Given the description of an element on the screen output the (x, y) to click on. 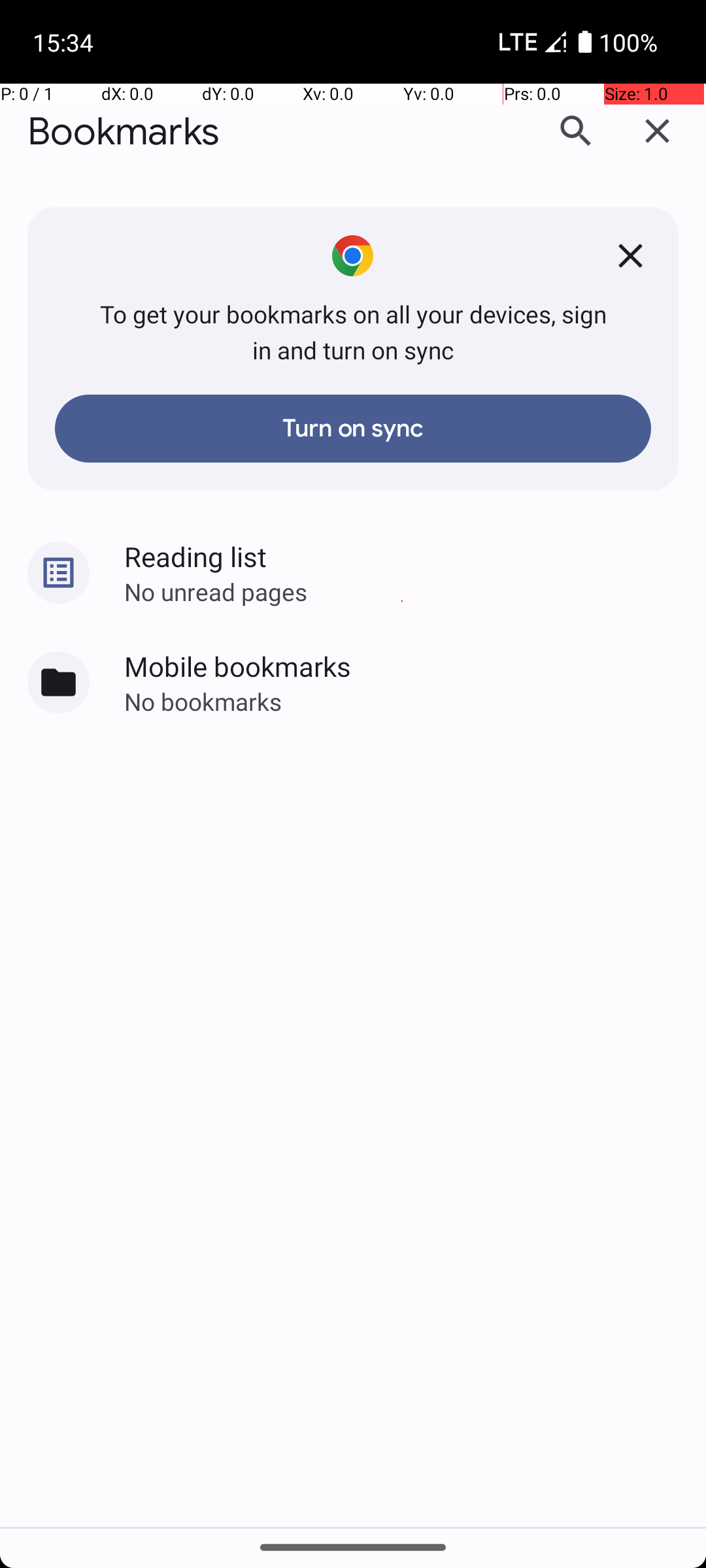
Bookmarks Element type: android.widget.TextView (123, 131)
Close dialog Element type: android.widget.Button (656, 131)
To get your bookmarks on all your devices, sign in and turn on sync Element type: android.widget.TextView (352, 331)
Turn on sync Element type: android.widget.Button (352, 428)
Reading list Element type: android.widget.TextView (415, 555)
No unread pages Element type: android.widget.TextView (415, 591)
Mobile bookmarks Element type: android.widget.TextView (415, 665)
No bookmarks Element type: android.widget.TextView (415, 701)
